Given the description of an element on the screen output the (x, y) to click on. 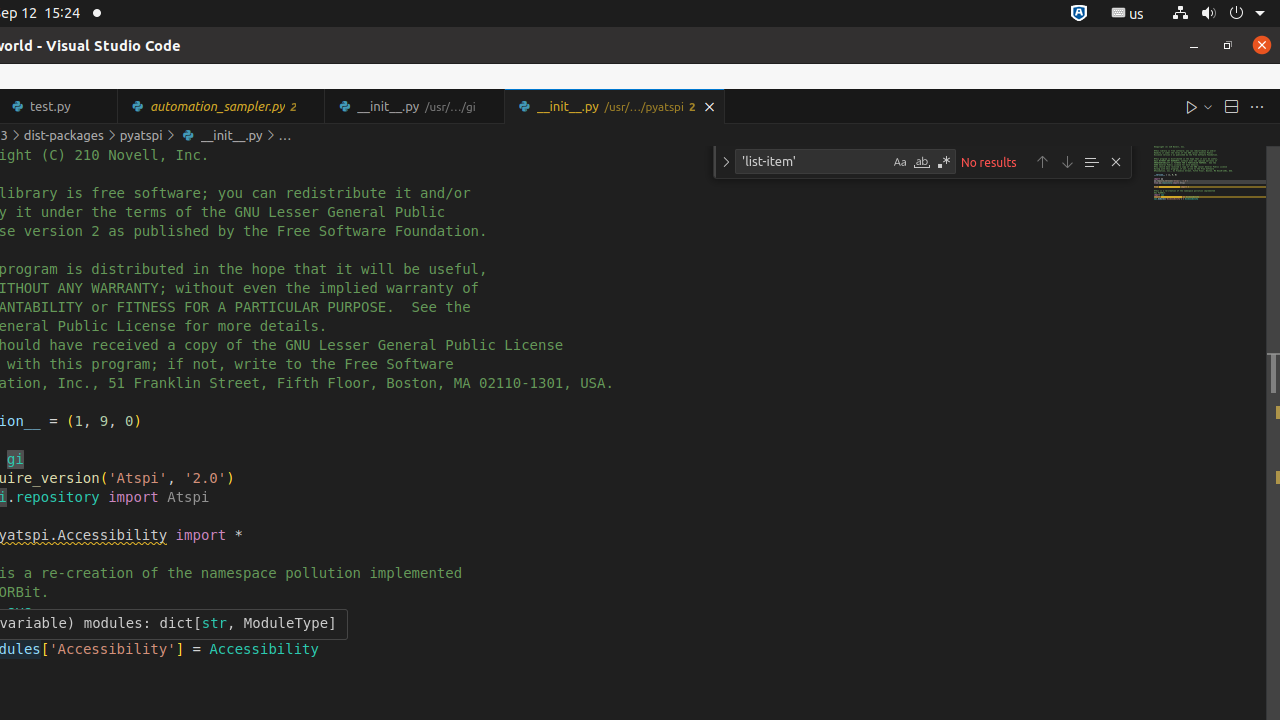
Match Case (Alt+C) Element type: check-box (900, 162)
automation_sampler.py, preview Element type: page-tab (222, 106)
Close (Escape) Element type: push-button (1116, 162)
